Given the description of an element on the screen output the (x, y) to click on. 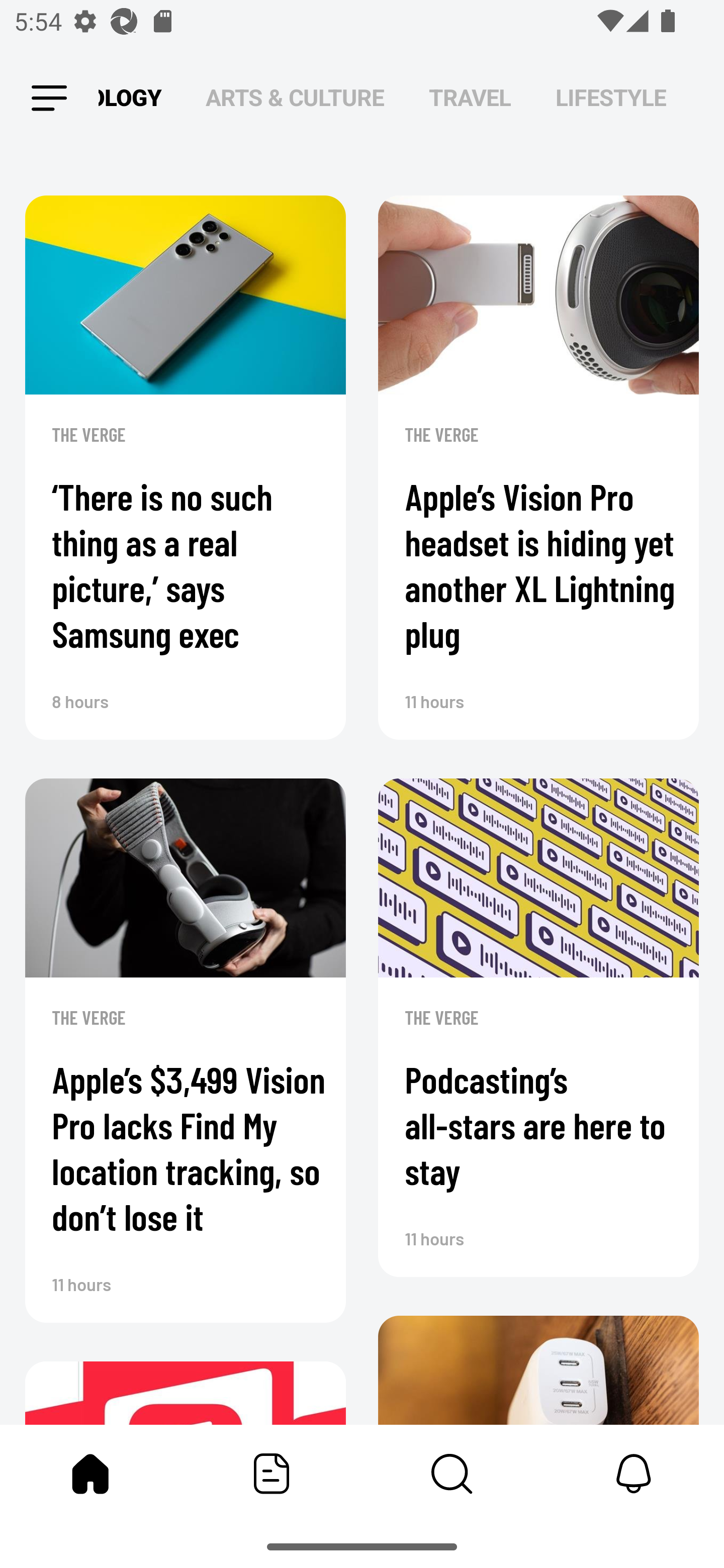
Leading Icon (49, 98)
ARTS & CULTURE (294, 97)
TRAVEL (469, 97)
LIFESTYLE (610, 97)
Featured (271, 1473)
Content Store (452, 1473)
Notifications (633, 1473)
